Given the description of an element on the screen output the (x, y) to click on. 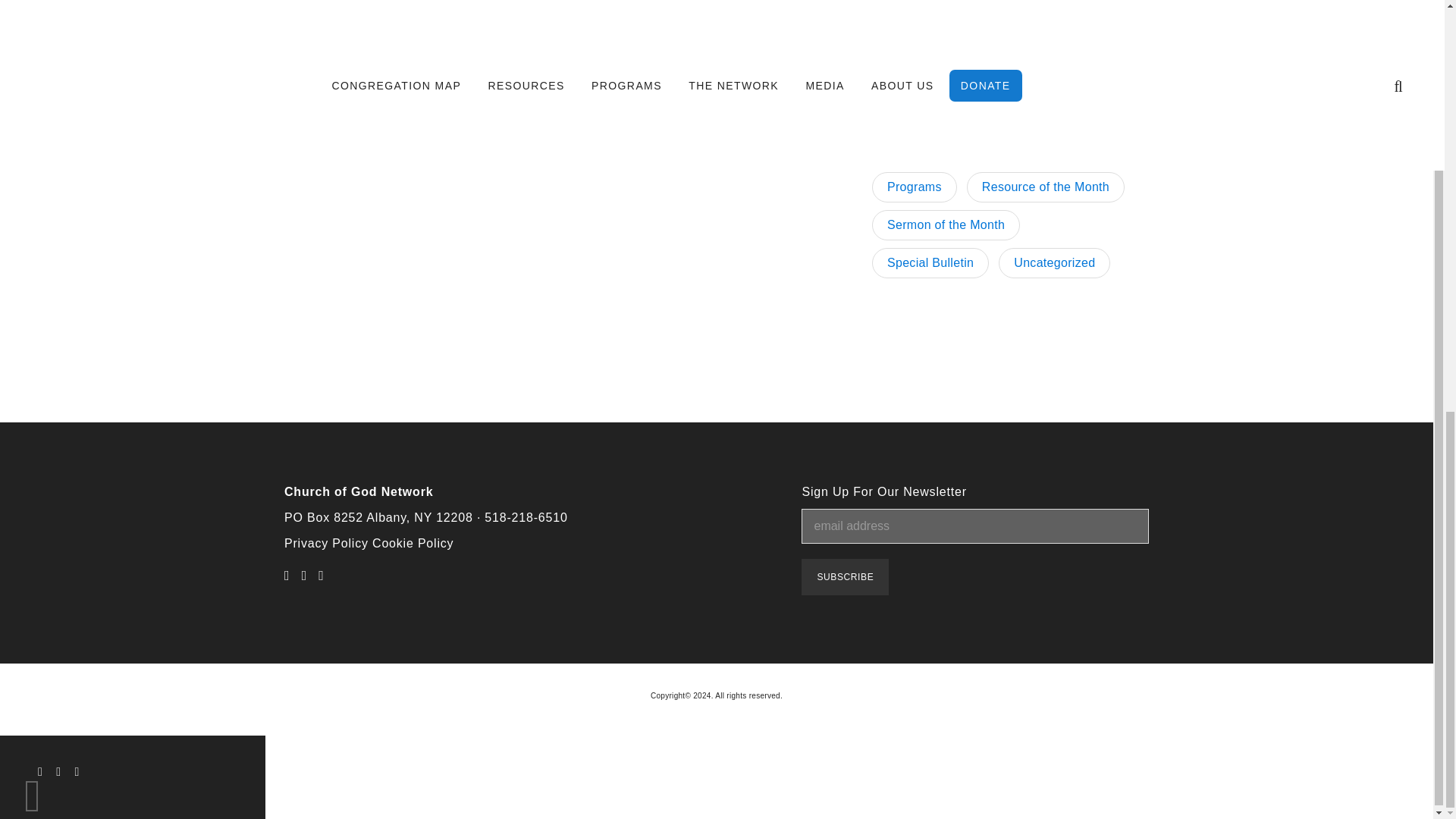
Subscribe (845, 575)
Cookie Policy  (412, 543)
Privacy Policy  (325, 543)
